Given the description of an element on the screen output the (x, y) to click on. 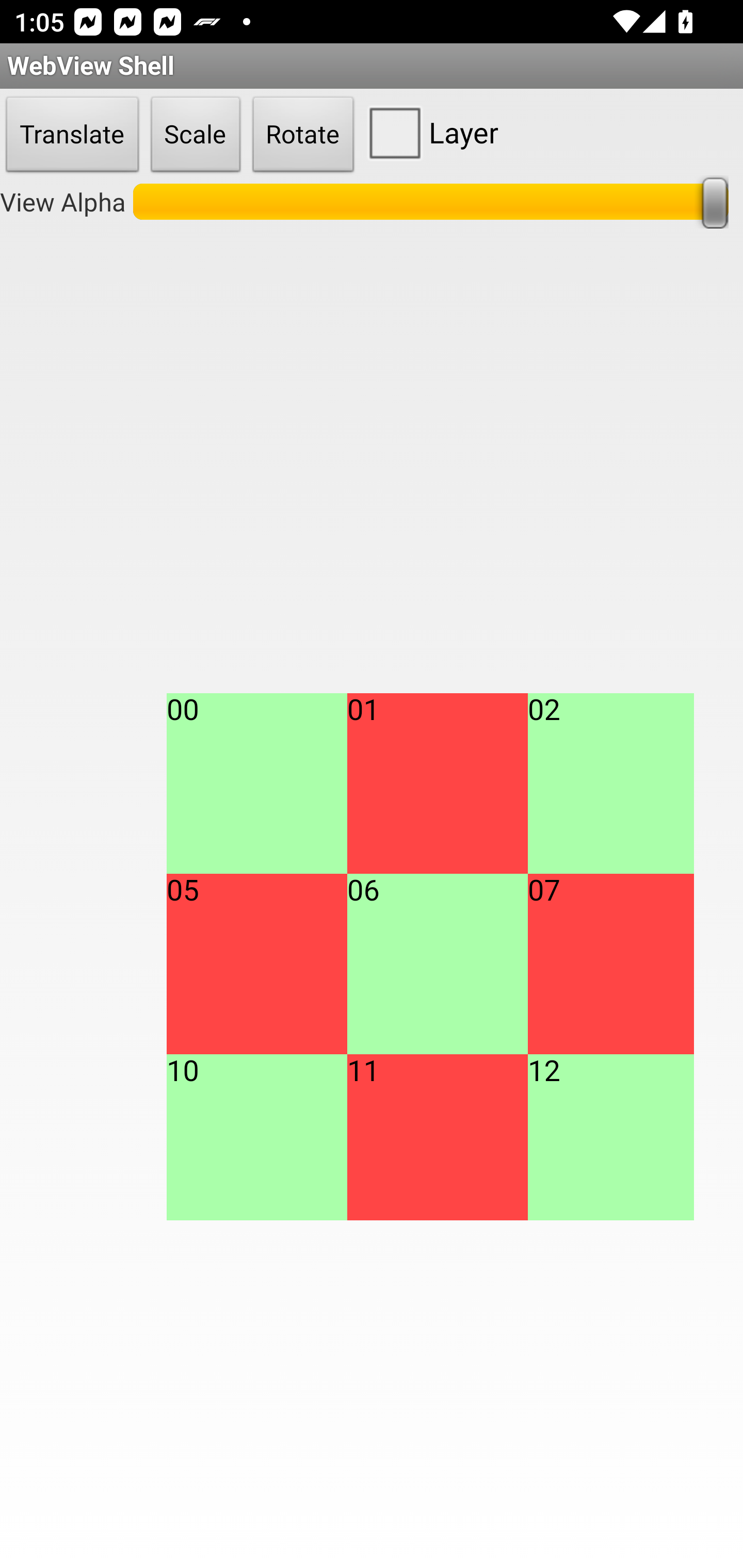
Layer (429, 132)
Translate (72, 135)
Scale (195, 135)
Rotate (303, 135)
